Given the description of an element on the screen output the (x, y) to click on. 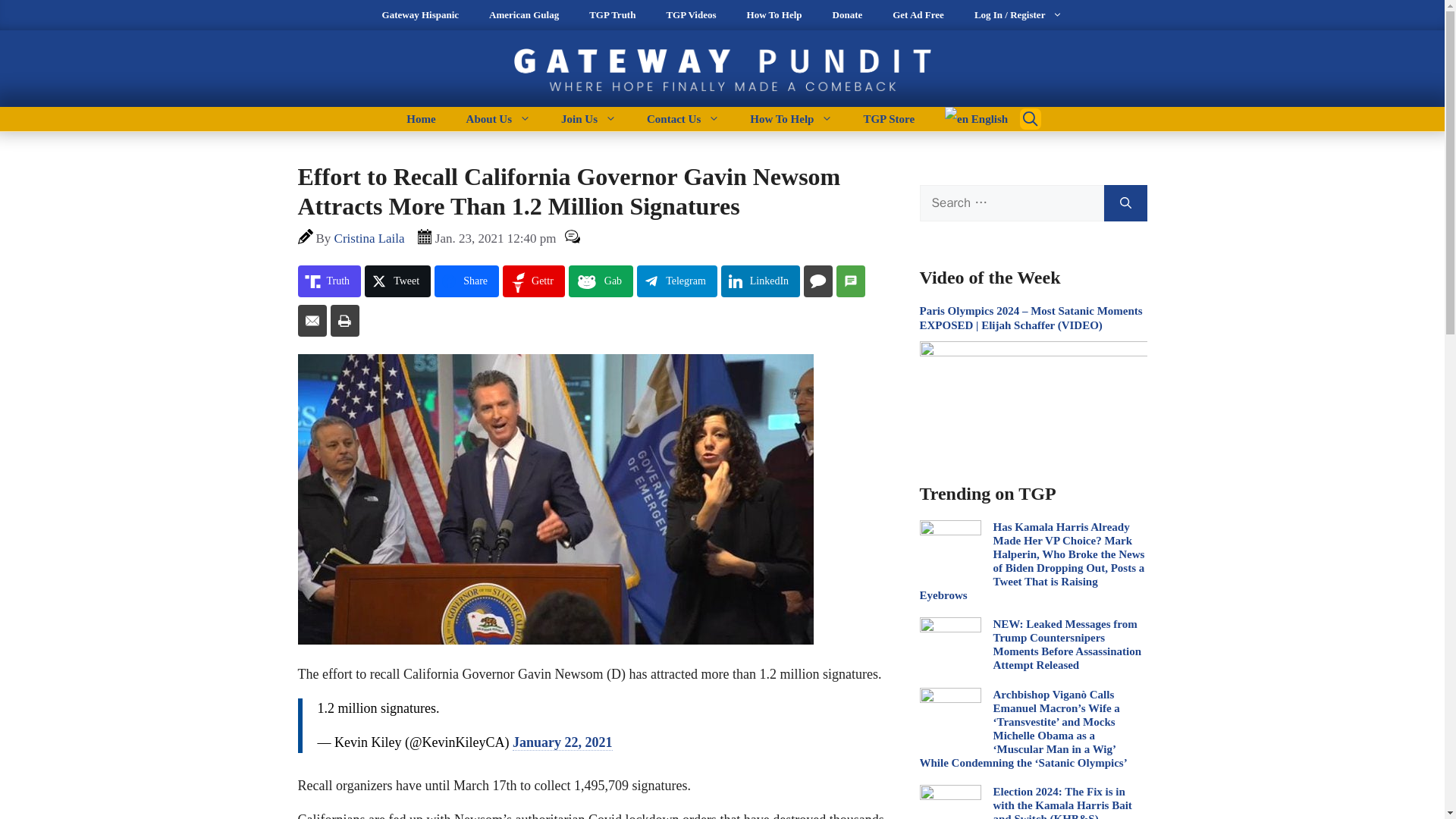
Share on Tweet (397, 281)
How To Help (774, 15)
Gateway Hispanic (420, 15)
Donate (846, 15)
How To Help (791, 119)
American Gulag (523, 15)
Get Ad Free (918, 15)
Share on Truth (329, 281)
Share on LinkedIn (759, 281)
Contact Us (683, 119)
Share on Telegram (677, 281)
TGP Videos (690, 15)
View all posts by Cristina Laila (369, 237)
